Given the description of an element on the screen output the (x, y) to click on. 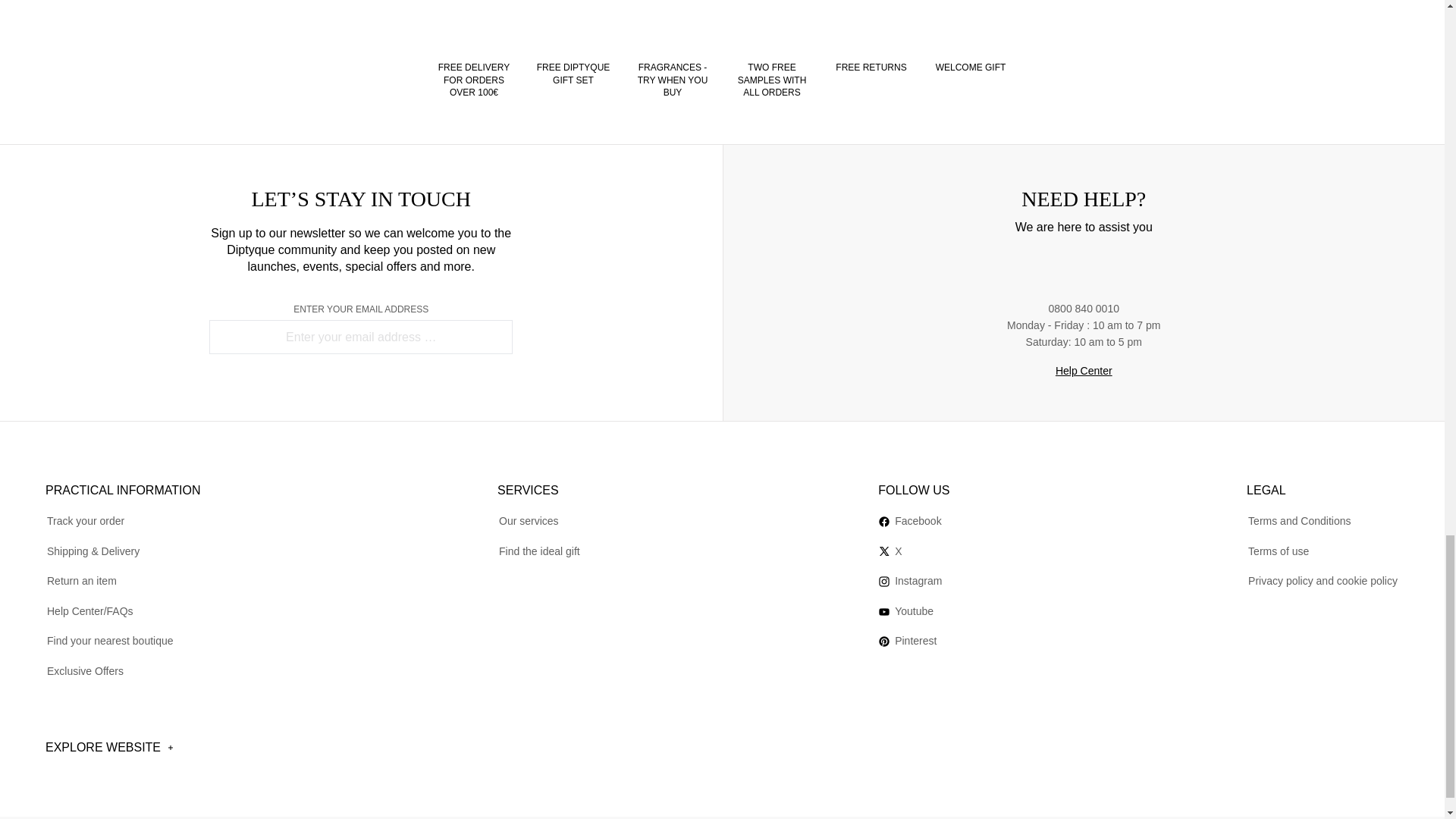
PRACTICAL INFORMATION (122, 486)
Track your order (85, 521)
Help Center (1083, 371)
Help Center Opens in new tab (1083, 371)
Return an item (81, 580)
